Given the description of an element on the screen output the (x, y) to click on. 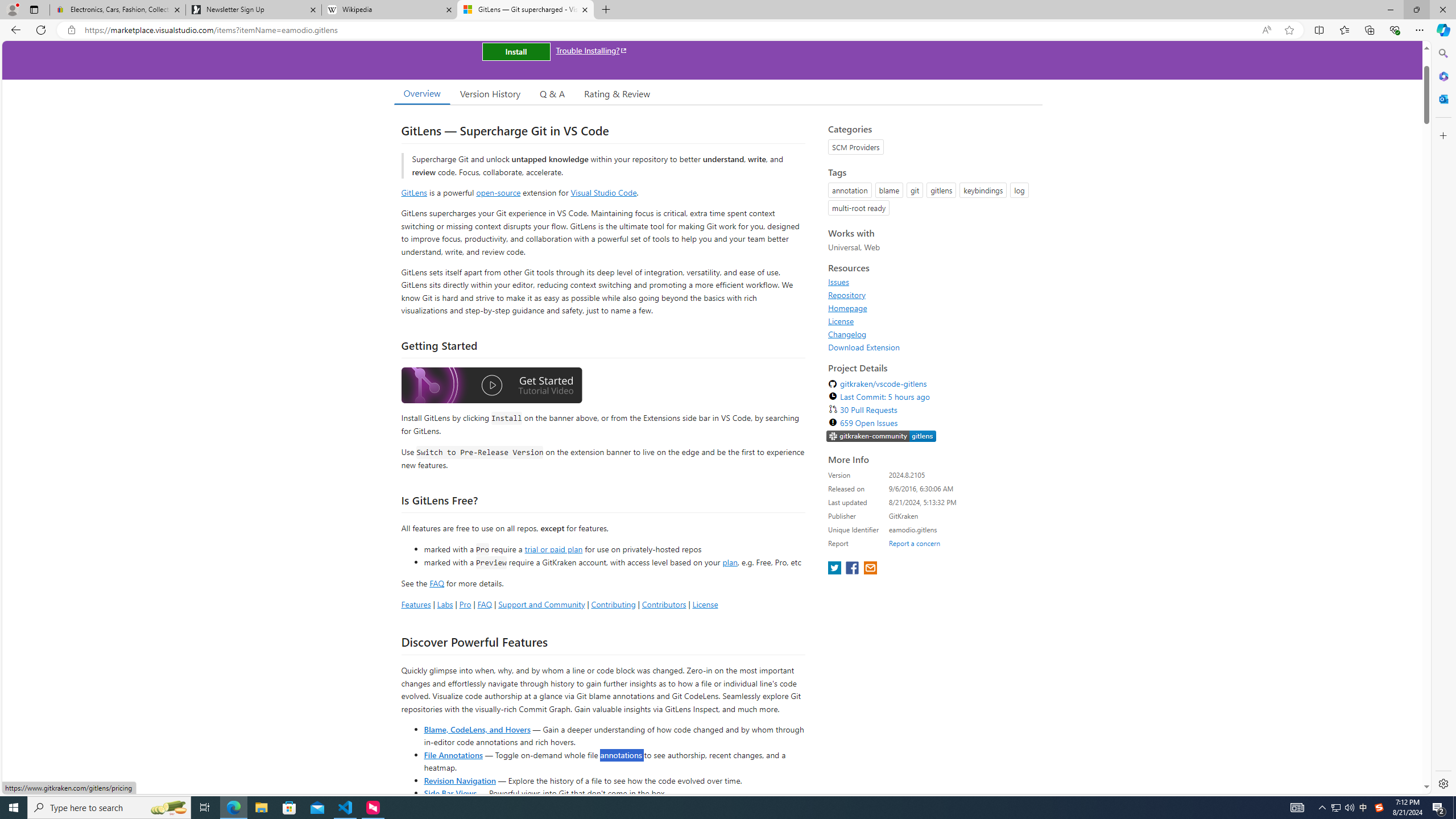
share extension on email (869, 568)
trial or paid plan (553, 548)
Download Extension (863, 346)
Support and Community (541, 603)
